Given the description of an element on the screen output the (x, y) to click on. 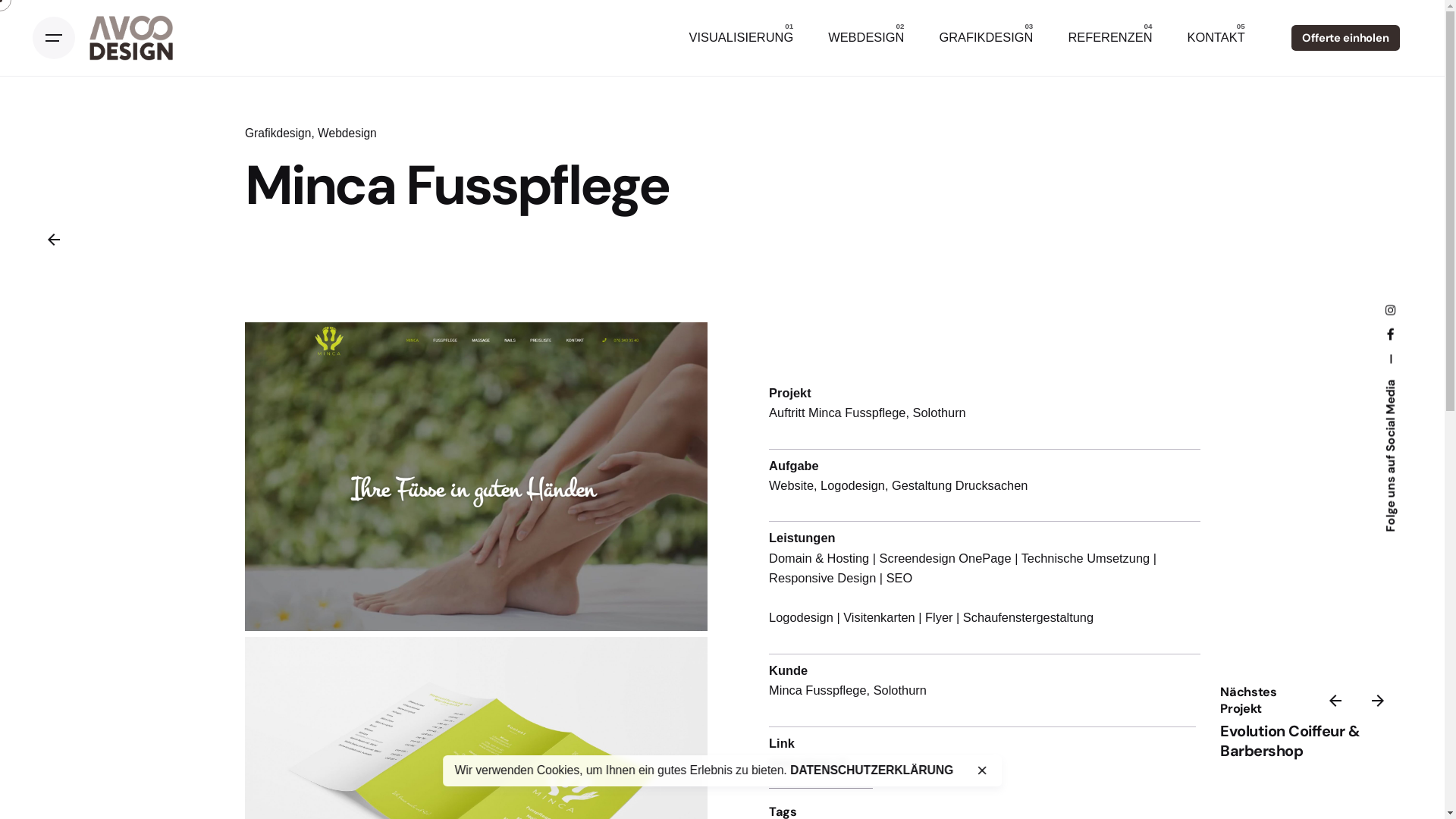
REFERENZEN Element type: text (1109, 37)
GRAFIKDESIGN Element type: text (985, 37)
Evolution Coiffeur & Barbershop Element type: text (1289, 740)
WEBDESIGN Element type: text (865, 37)
VISUALISIERUNG Element type: text (741, 37)
Offerte einholen Element type: text (1345, 37)
KONTAKT Element type: text (1216, 37)
